Given the description of an element on the screen output the (x, y) to click on. 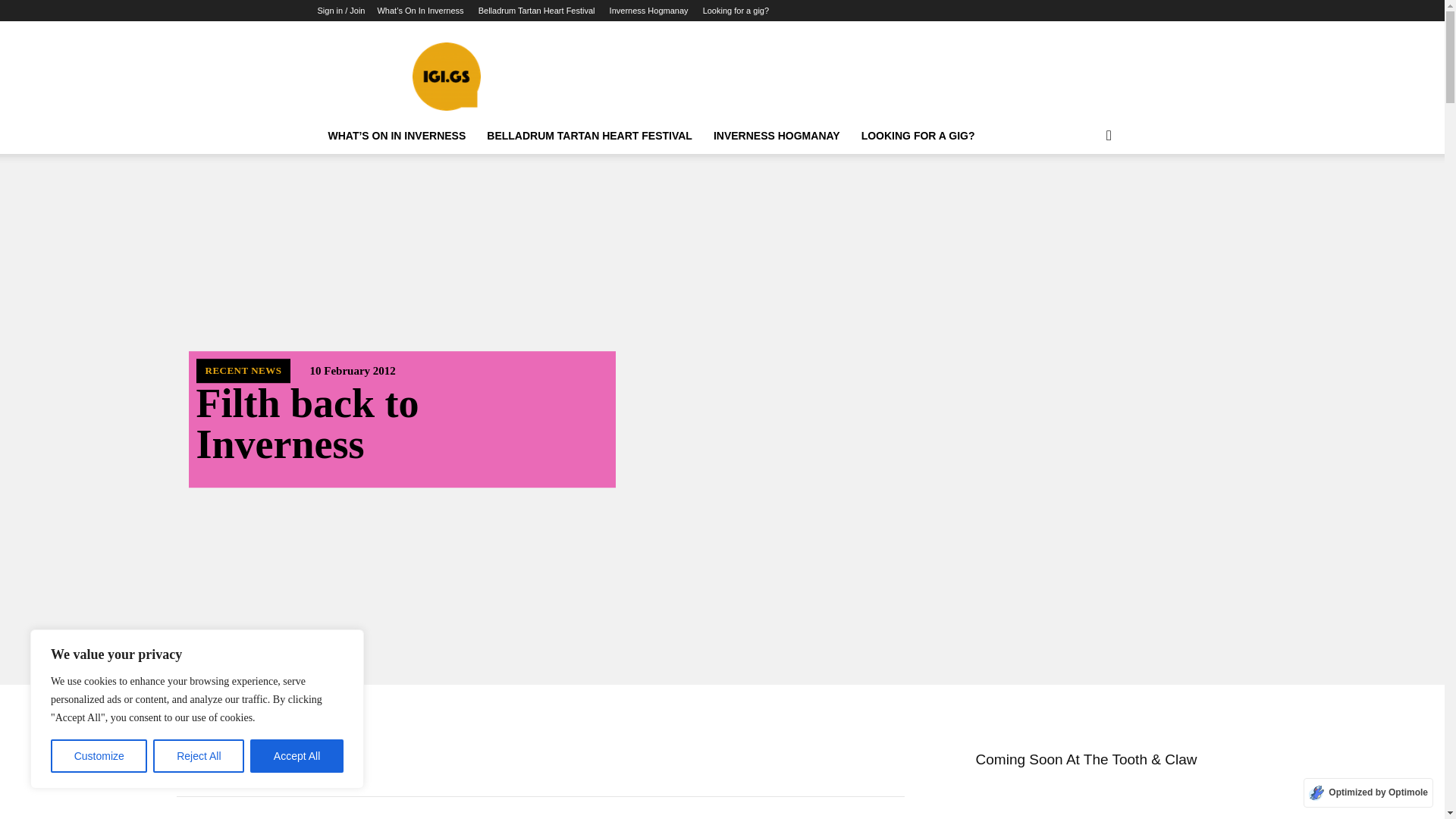
LOOKING FOR A GIG? (917, 135)
Accept All (296, 756)
Customize (98, 756)
INVERNESS HOGMANAY (776, 135)
Search (1085, 196)
RECENT NEWS (242, 370)
Reject All (198, 756)
Inverness Hogmanay (649, 10)
BELLADRUM TARTAN HEART FESTIVAL (589, 135)
Looking for a gig? (735, 10)
Belladrum Tartan Heart Festival (537, 10)
